Given the description of an element on the screen output the (x, y) to click on. 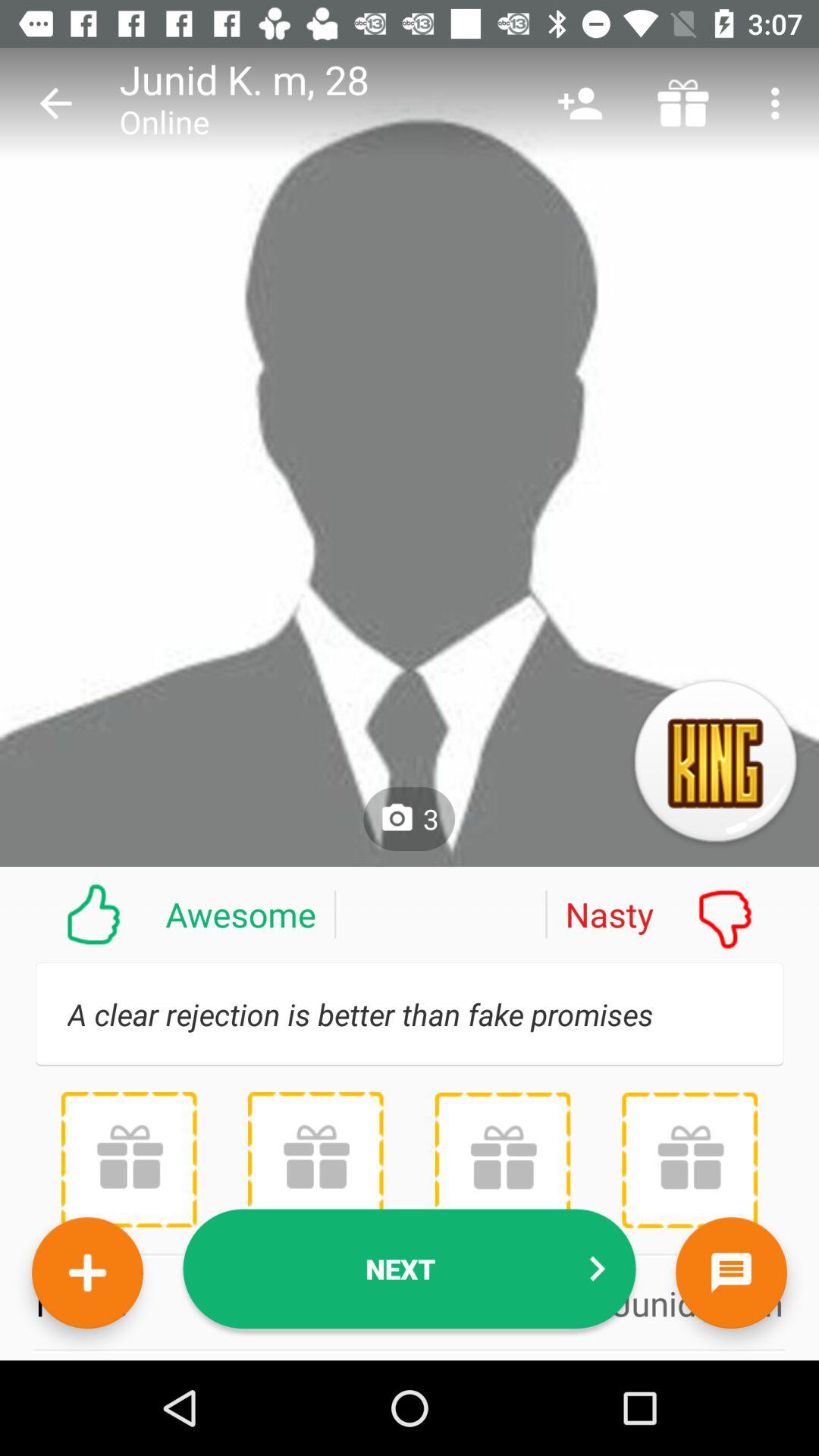
send gift (502, 1159)
